Given the description of an element on the screen output the (x, y) to click on. 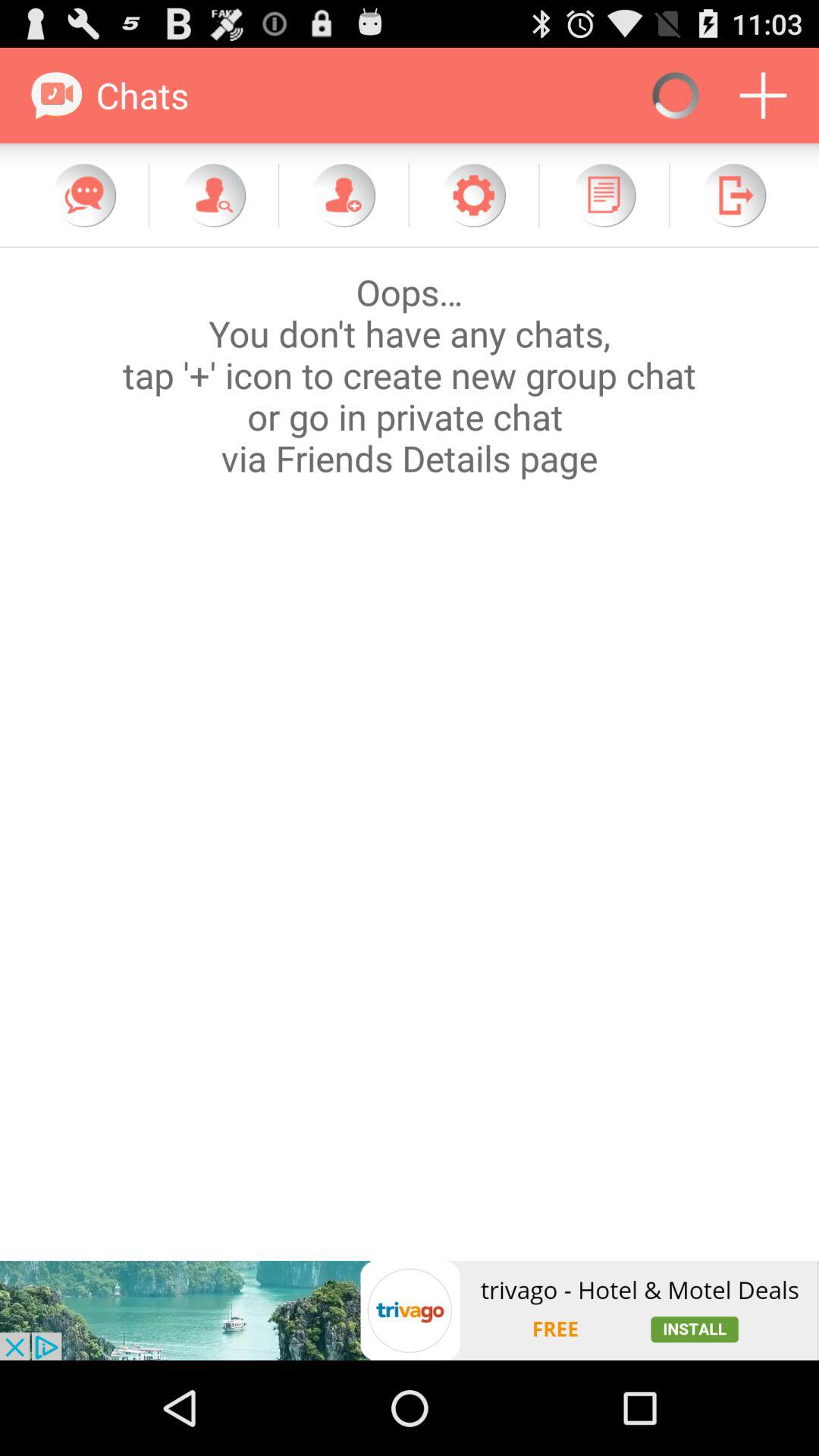
go to message (84, 194)
